Given the description of an element on the screen output the (x, y) to click on. 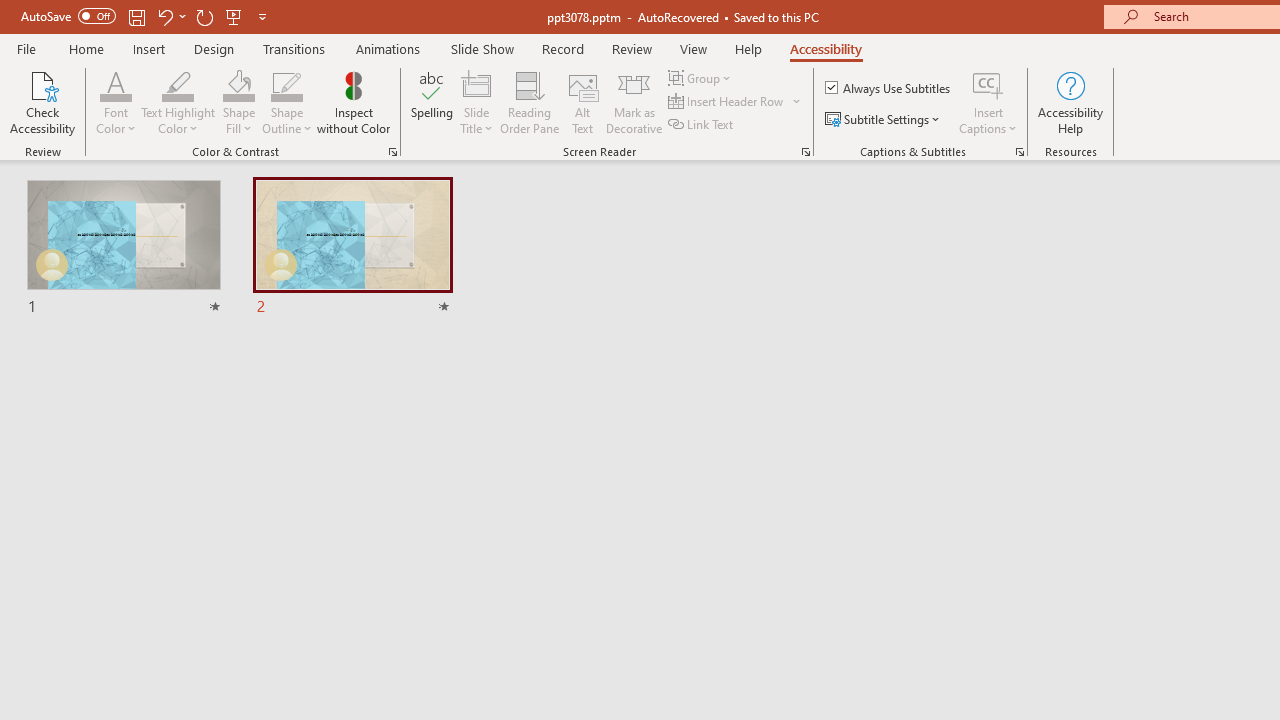
Group (701, 78)
Slide Title (476, 102)
Slide Title (476, 84)
Link Text (702, 124)
Insert Captions (988, 84)
Accessibility Help (1070, 102)
Always Use Subtitles (889, 87)
